Given the description of an element on the screen output the (x, y) to click on. 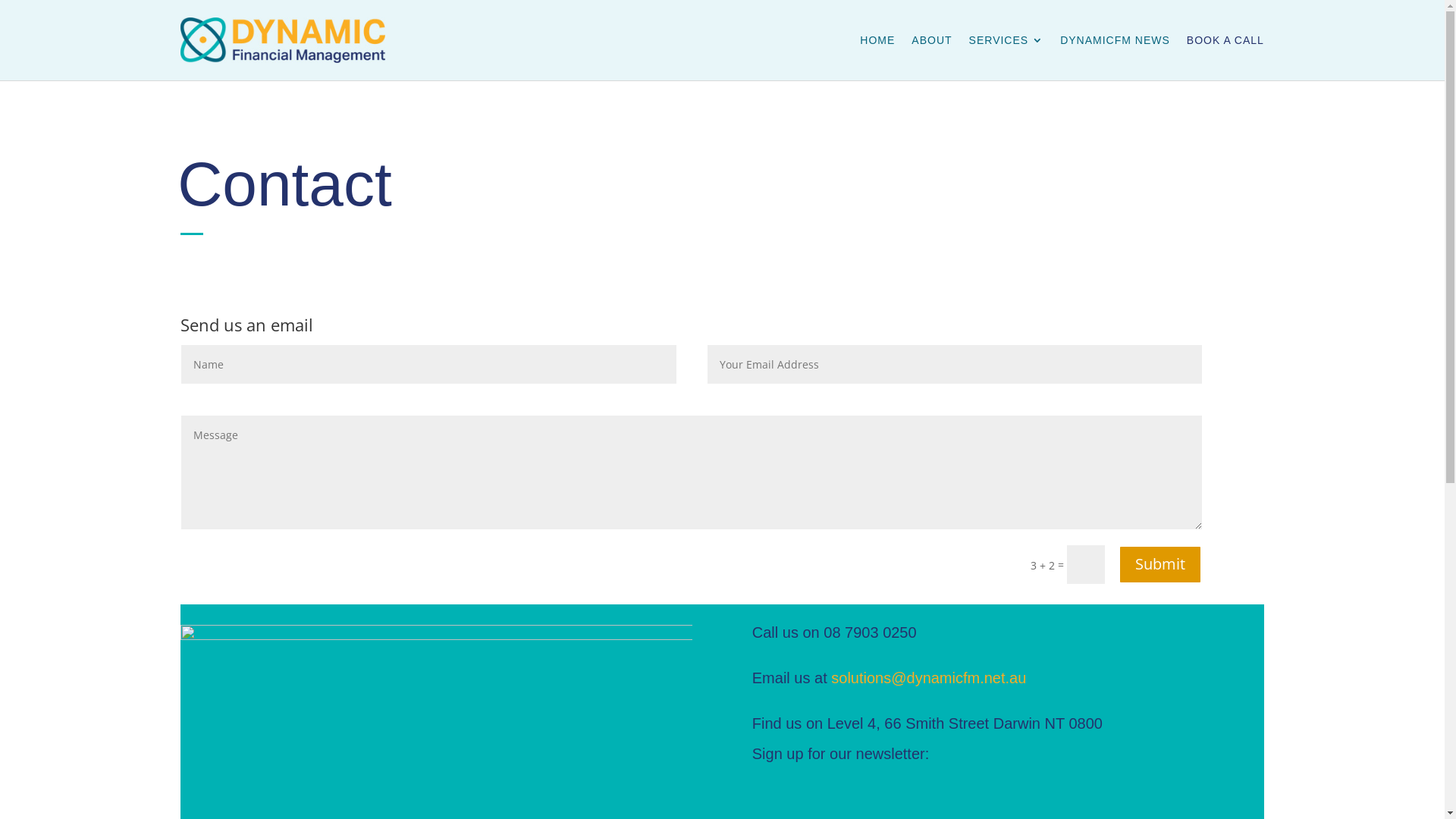
SERVICES Element type: text (1006, 40)
DYNAMICFM NEWS Element type: text (1115, 40)
Submit Element type: text (1159, 564)
HOME Element type: text (876, 40)
BOOK A CALL Element type: text (1225, 40)
ABOUT Element type: text (931, 40)
solutions@dynamicfm.net.au Element type: text (928, 677)
